Given the description of an element on the screen output the (x, y) to click on. 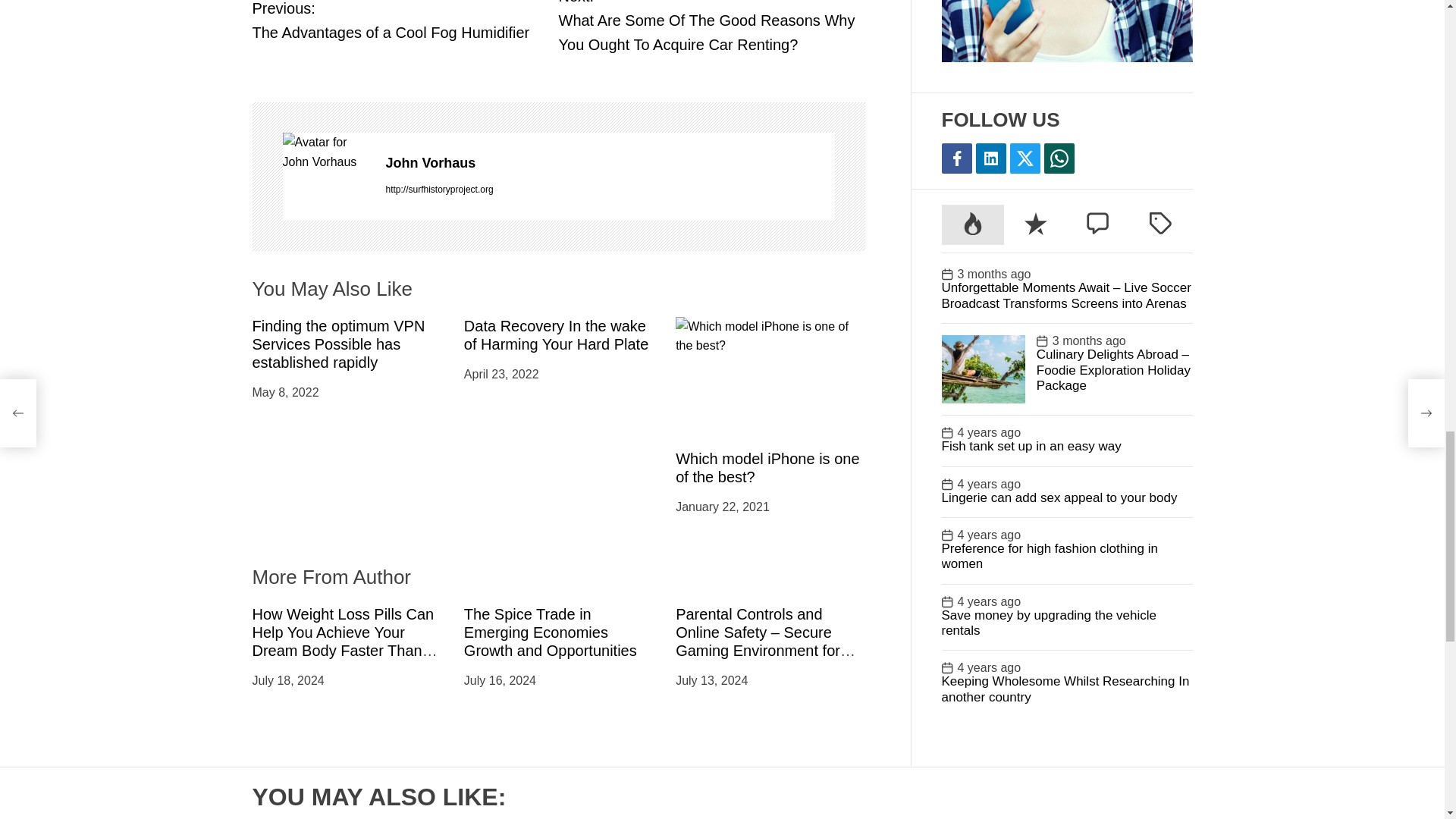
John Vorhaus (325, 151)
John Vorhaus (609, 163)
John Vorhaus (404, 22)
